Given the description of an element on the screen output the (x, y) to click on. 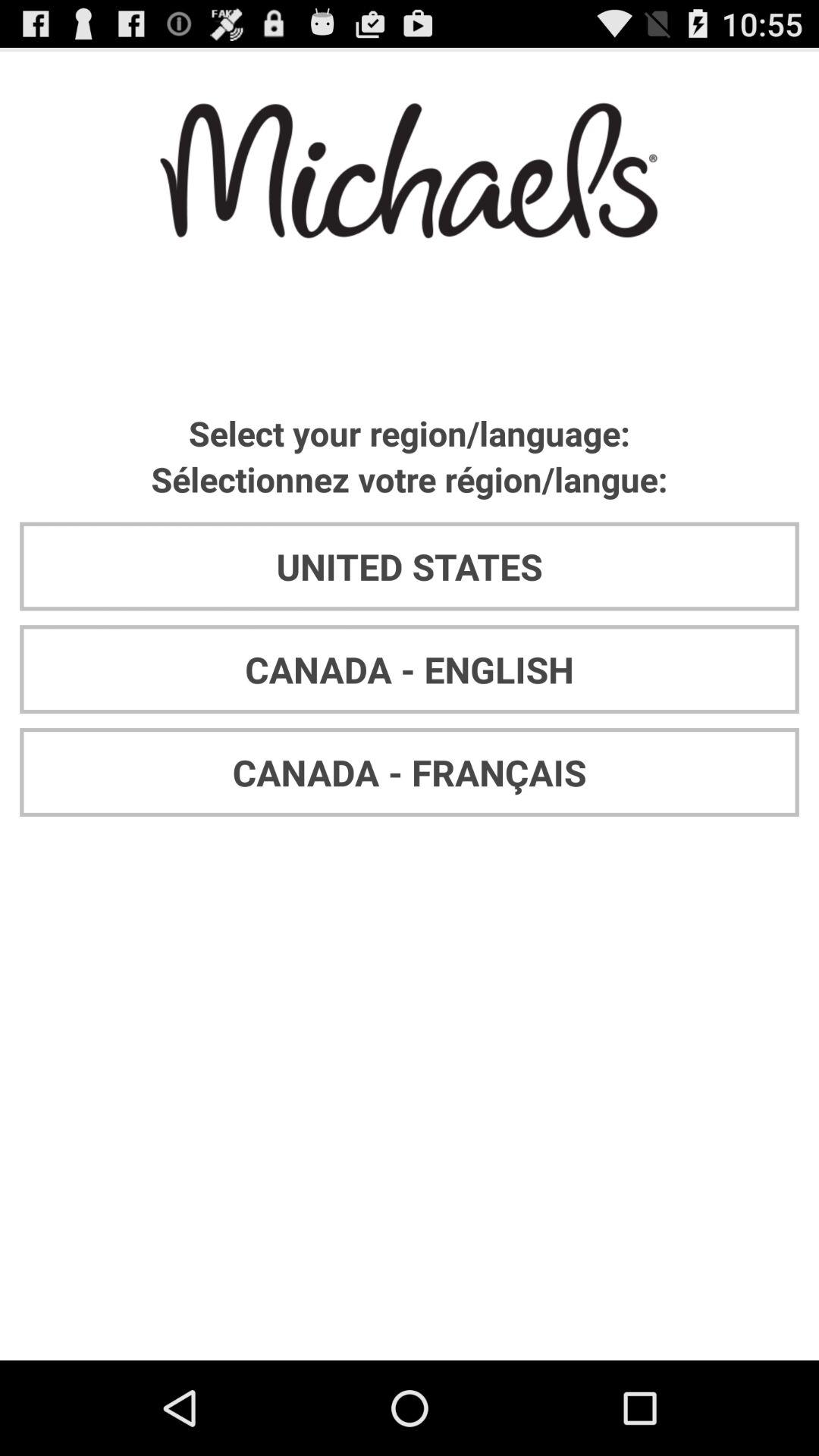
choose item above the canada - english app (409, 566)
